Given the description of an element on the screen output the (x, y) to click on. 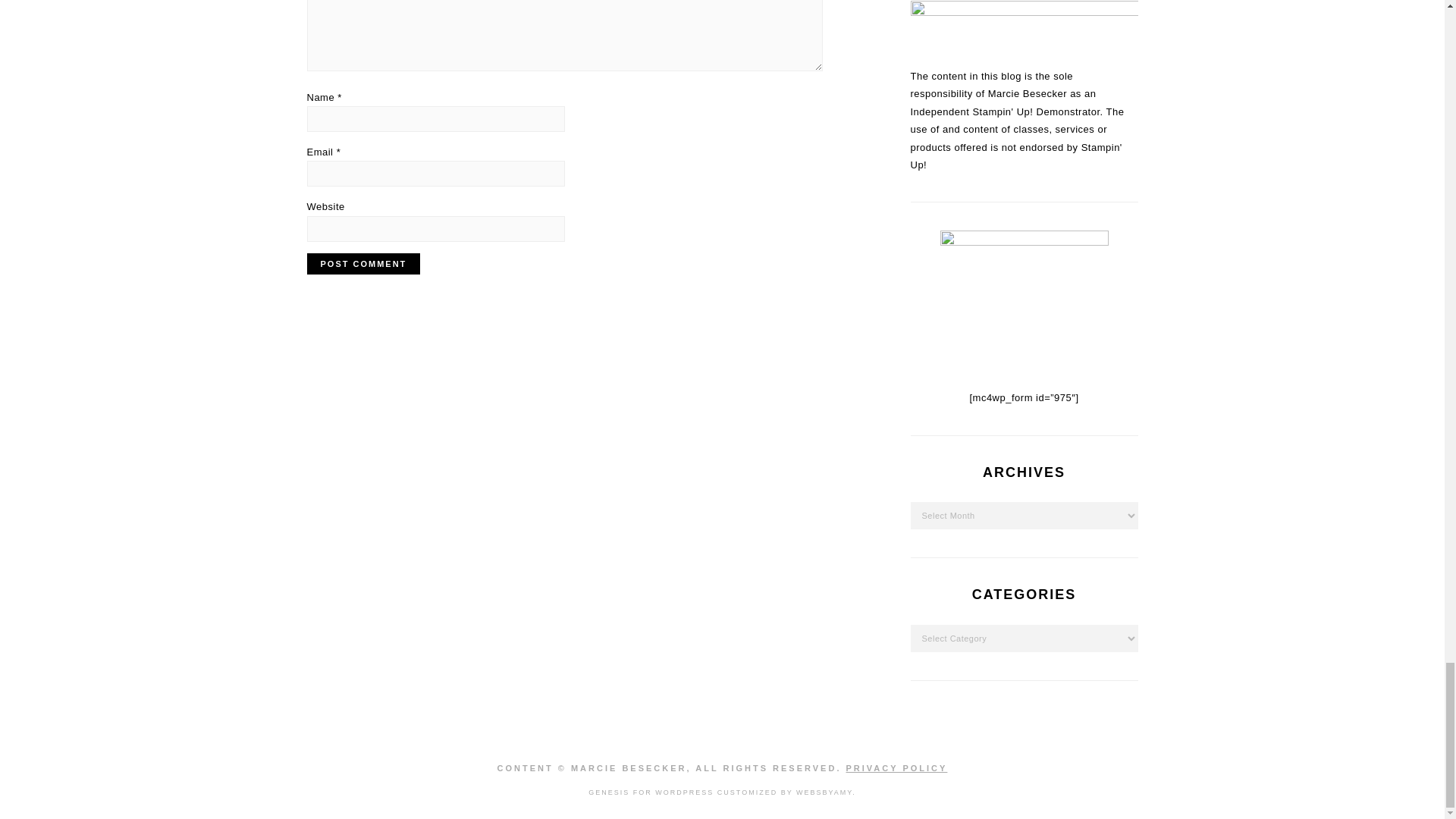
Post Comment (362, 263)
Post Comment (362, 263)
